Given the description of an element on the screen output the (x, y) to click on. 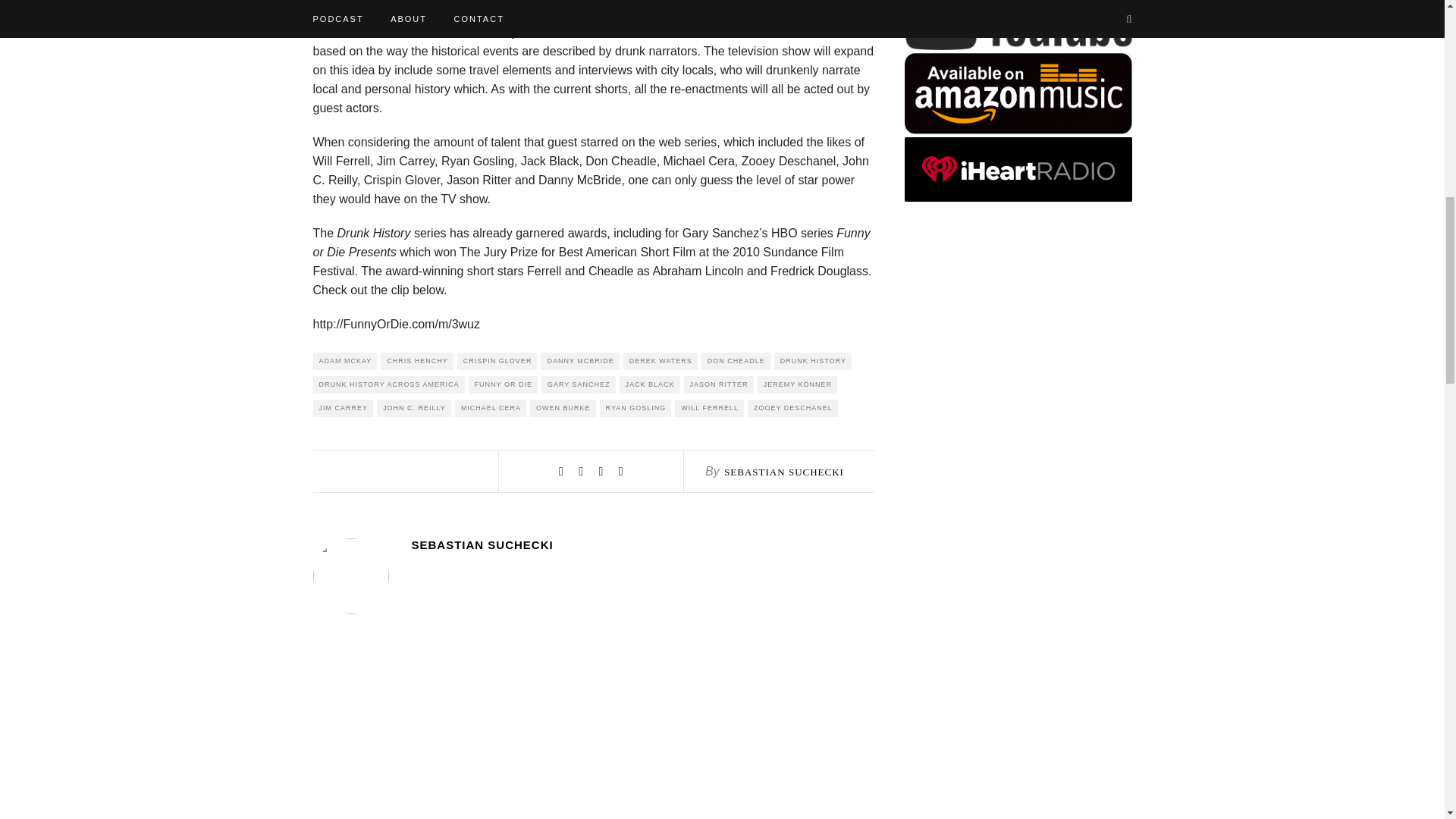
DEREK WATERS (660, 361)
DON CHEADLE (735, 361)
Advertisement (1017, 760)
CHRIS HENCHY (416, 361)
SEBASTIAN SUCHECKI (641, 544)
JOHN C. REILLY (414, 407)
WILL FERRELL (709, 407)
OWEN BURKE (562, 407)
MICHAEL CERA (489, 407)
GARY SANCHEZ (578, 384)
ADAM MCKAY (345, 361)
Posts by Sebastian Suchecki (641, 544)
JEREMY KONNER (797, 384)
DRUNK HISTORY ACROSS AMERICA (388, 384)
RYAN GOSLING (635, 407)
